Given the description of an element on the screen output the (x, y) to click on. 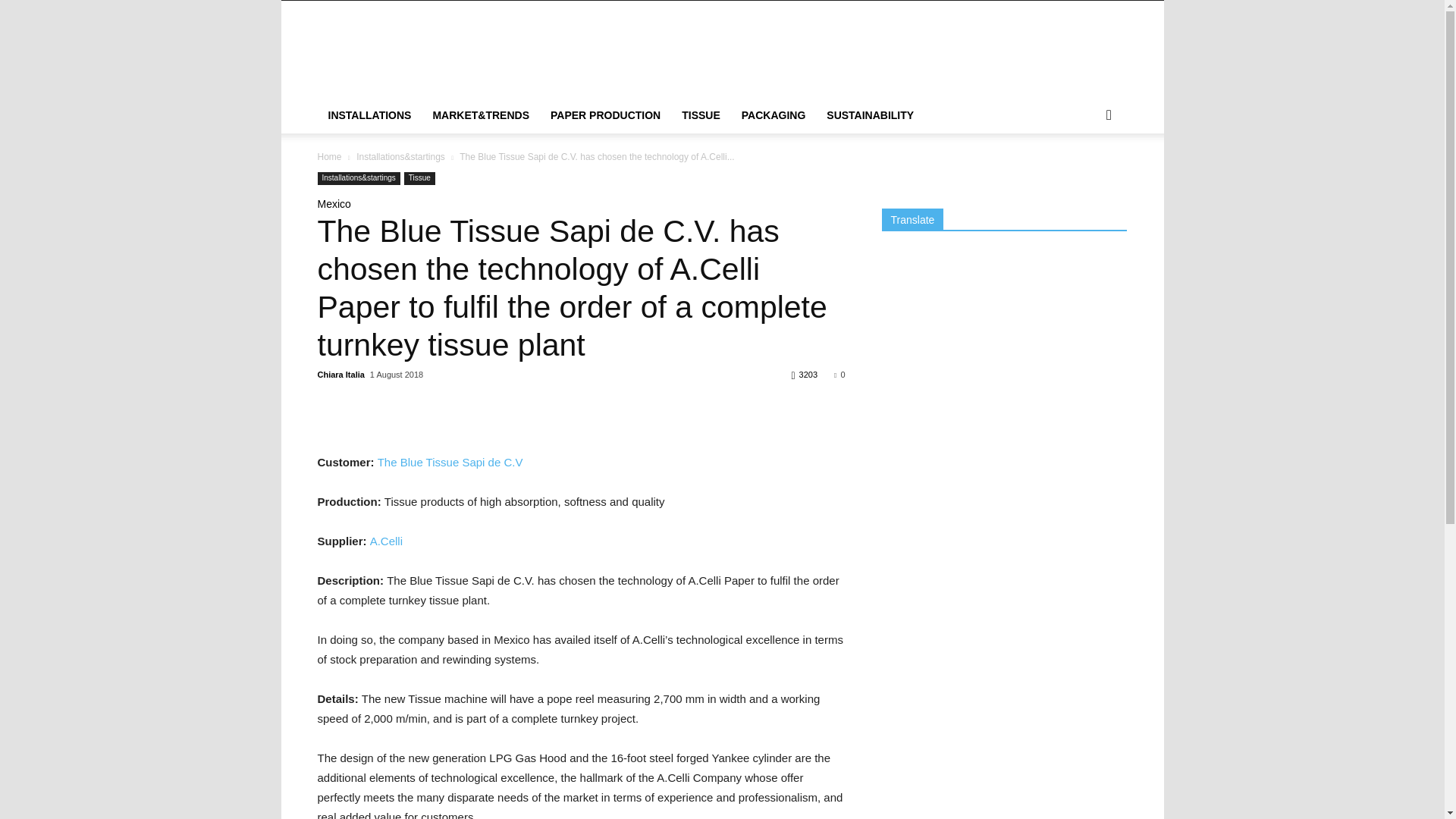
PACKAGING (773, 115)
INSTALLATIONS (369, 115)
TISSUE (700, 115)
PAPER PRODUCTION (605, 115)
Posts by Chiara Italia (340, 374)
SUSTAINABILITY (869, 115)
